Given the description of an element on the screen output the (x, y) to click on. 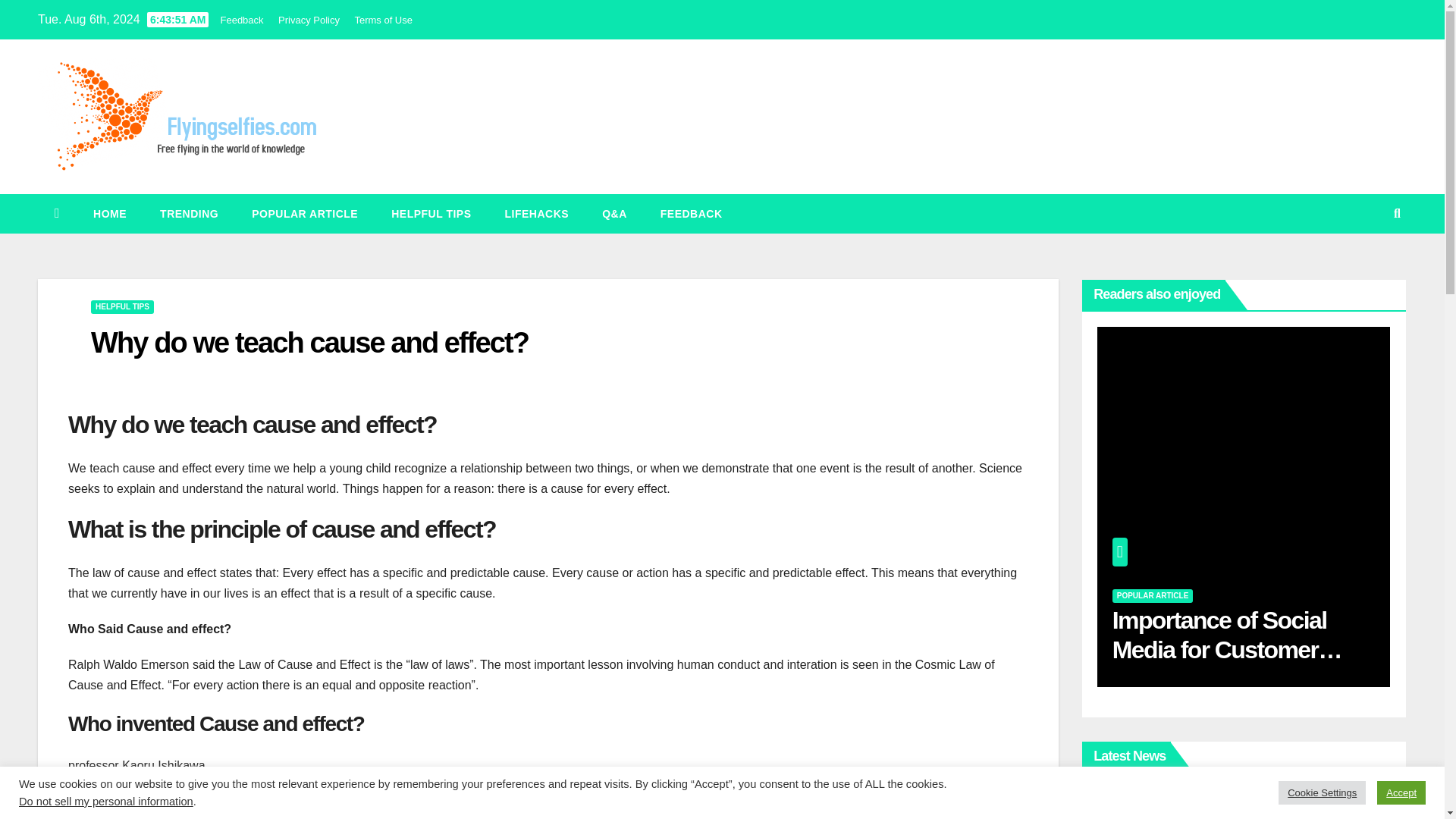
Permalink to: Why do we teach cause and effect? (309, 342)
Feedback (241, 19)
Popular article (304, 213)
Terms of Use (382, 19)
Helpful tips (430, 213)
Importance of Social Media for Customer Service? (1227, 649)
LIFEHACKS (536, 213)
HELPFUL TIPS (122, 306)
Privacy Policy (308, 19)
TRENDING (188, 213)
Lifehacks (536, 213)
Why do we teach cause and effect? (309, 342)
HELPFUL TIPS (430, 213)
Home (109, 213)
FEEDBACK (691, 213)
